Given the description of an element on the screen output the (x, y) to click on. 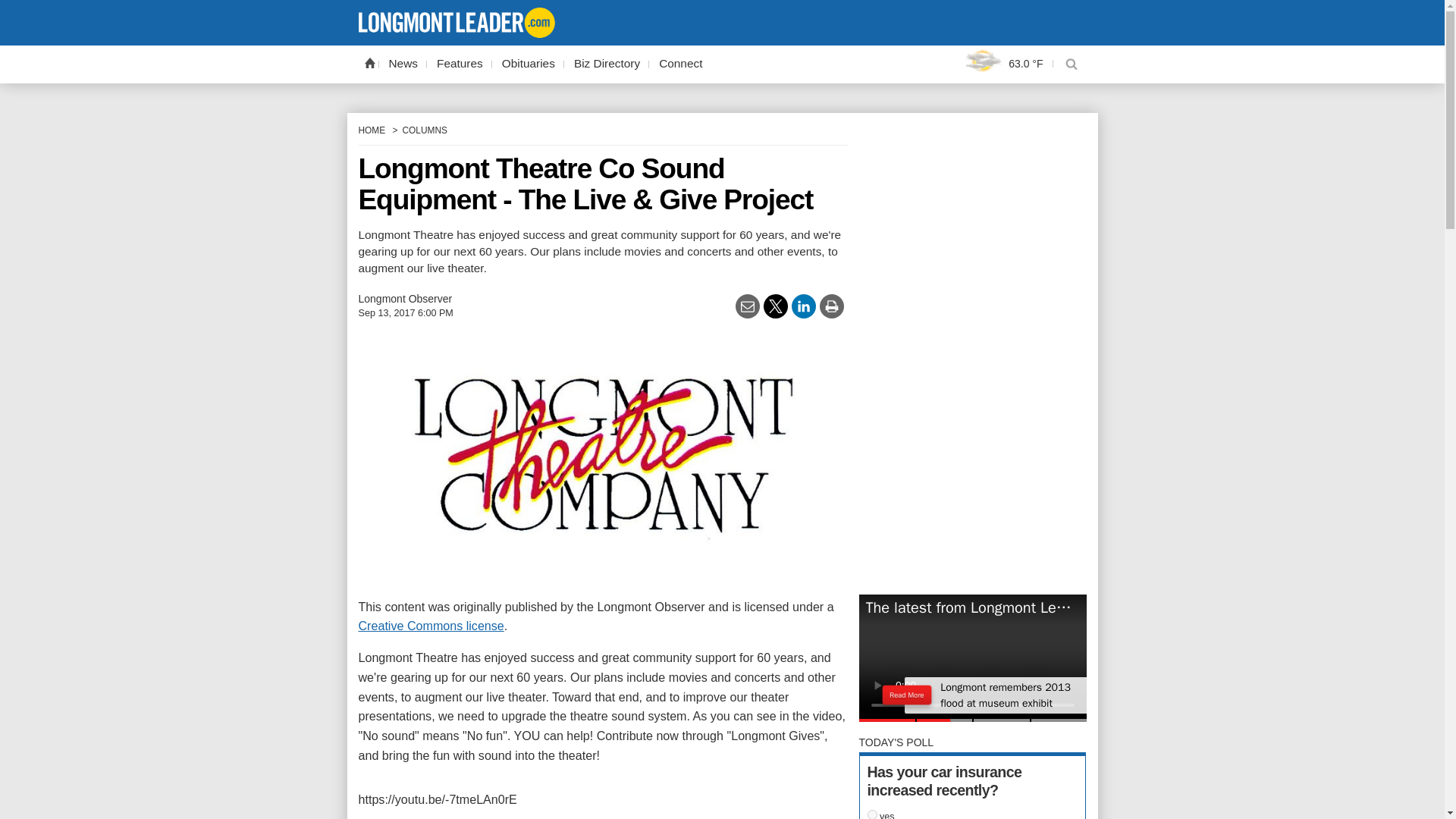
Obituaries (528, 64)
News (403, 64)
119151 (872, 814)
Home (368, 62)
3rd party ad content (722, 10)
